Given the description of an element on the screen output the (x, y) to click on. 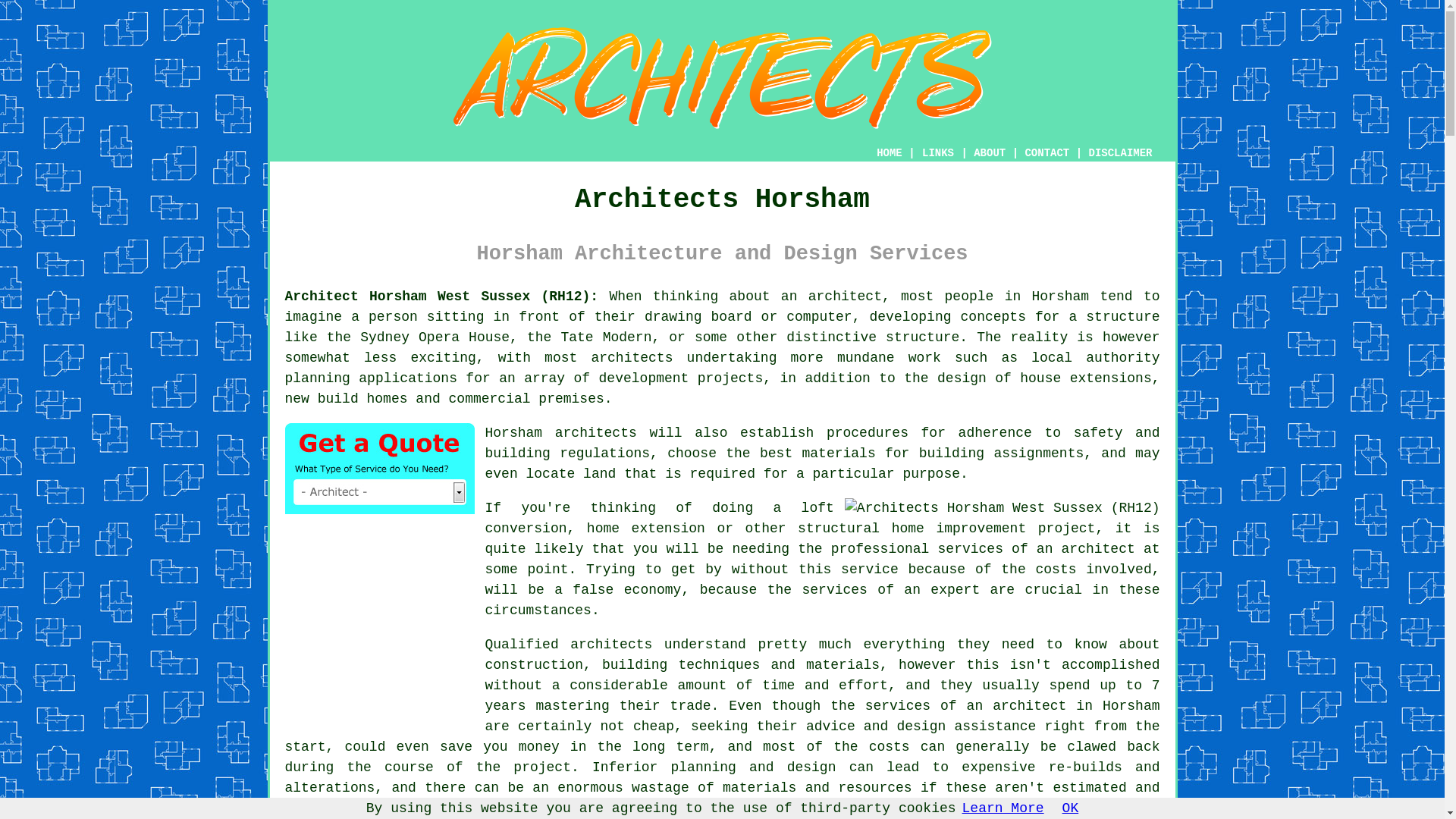
Architects Horsham (720, 78)
architects (611, 644)
architect (845, 296)
an architect (1085, 548)
HOME (889, 152)
architects (595, 432)
LINKS (938, 152)
